Given the description of an element on the screen output the (x, y) to click on. 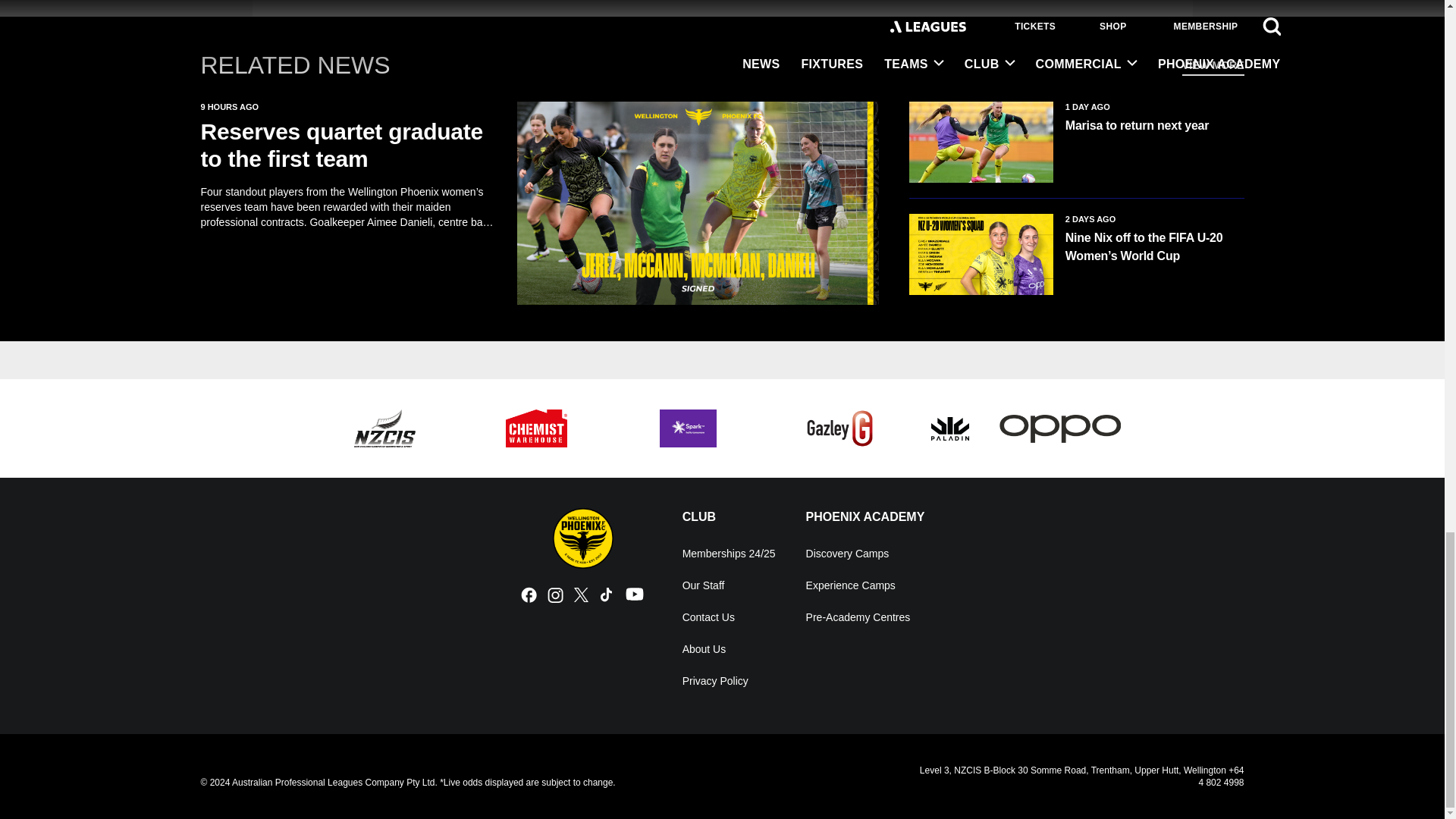
NZCIS (384, 428)
Chemist Warehouse (536, 428)
Spark (688, 428)
Paladin (950, 428)
Gazley (839, 428)
OPPO (1059, 428)
